Given the description of an element on the screen output the (x, y) to click on. 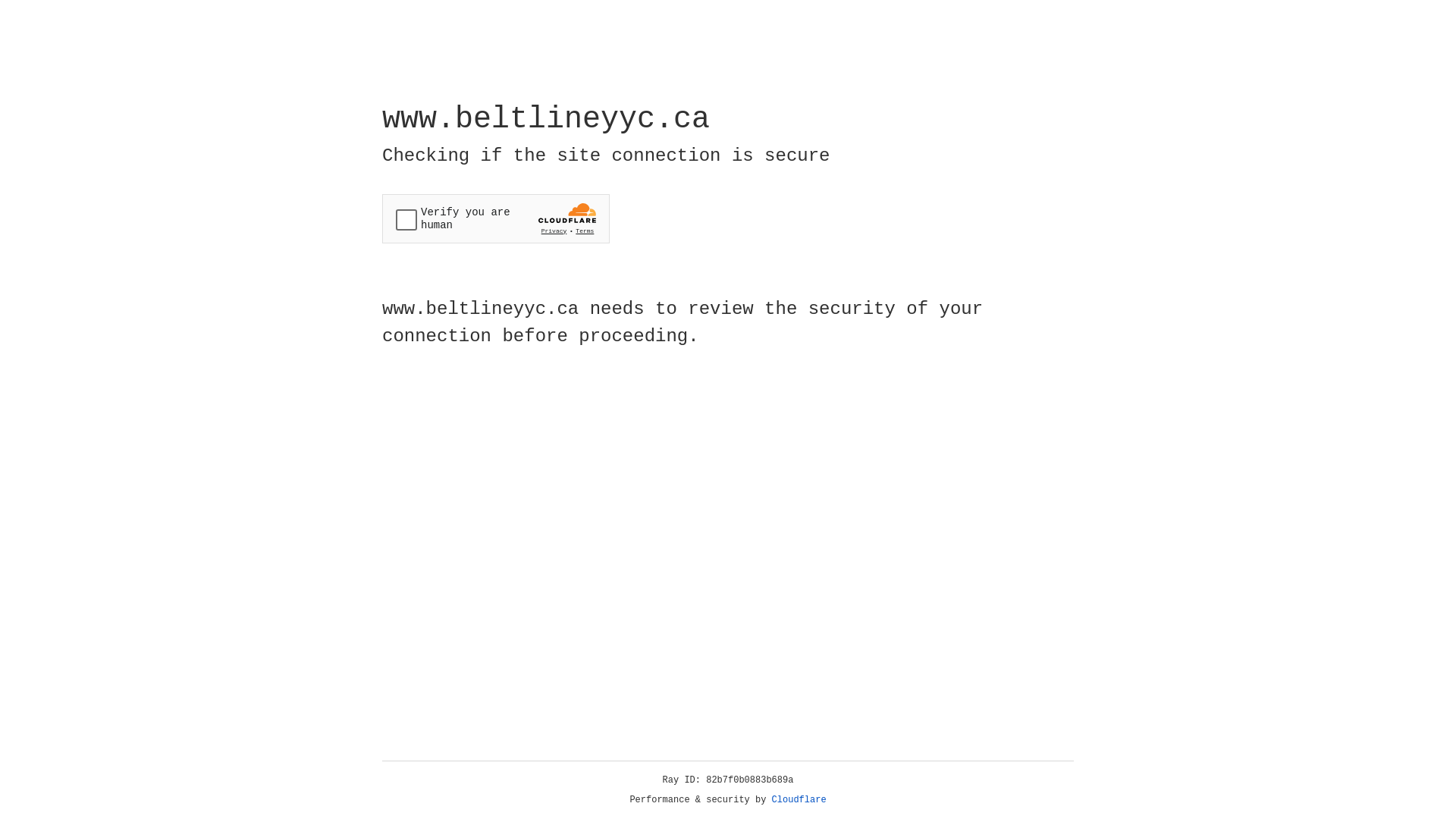
Cloudflare Element type: text (798, 799)
Widget containing a Cloudflare security challenge Element type: hover (495, 218)
